Given the description of an element on the screen output the (x, y) to click on. 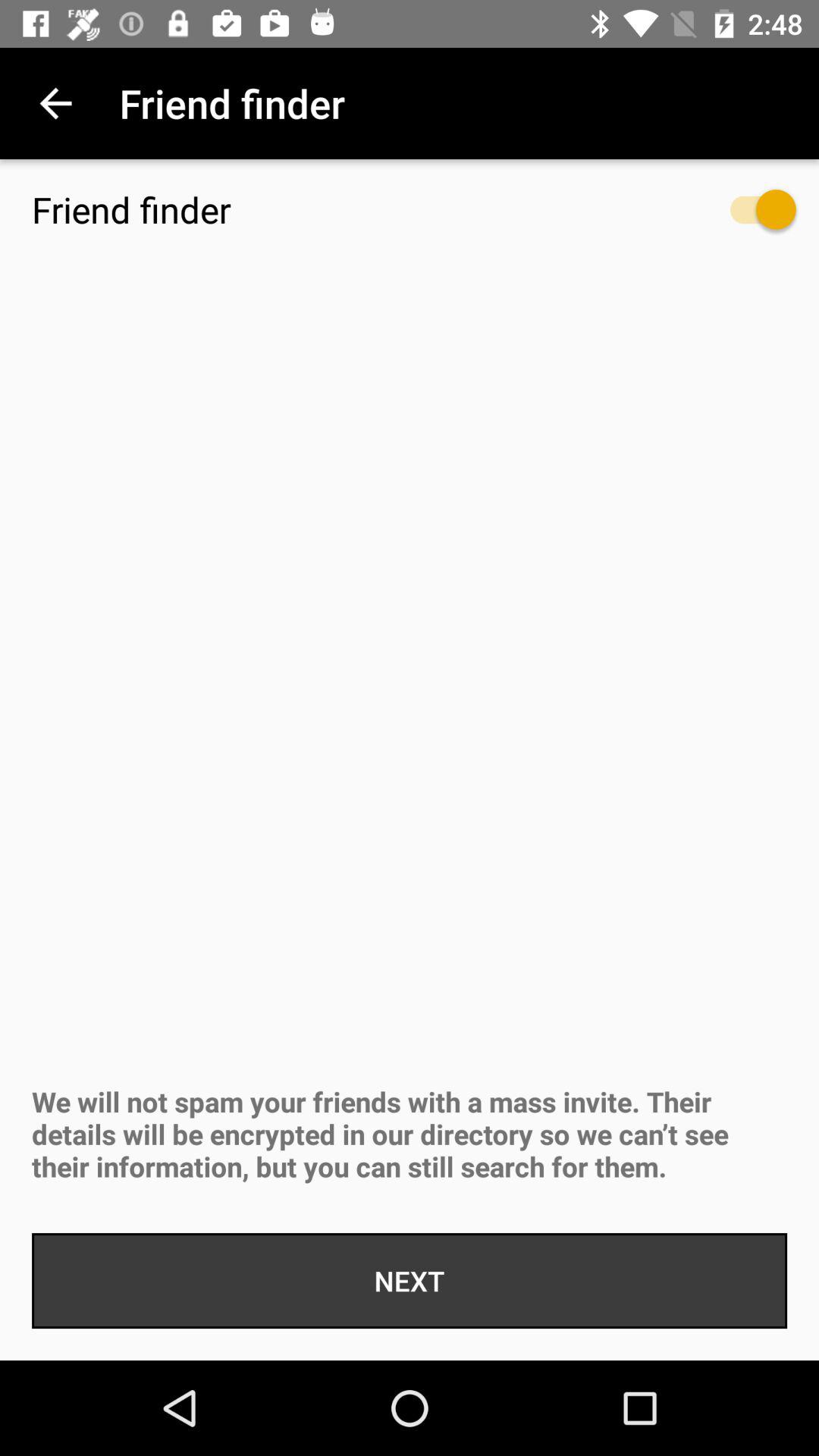
press the item above friend finder item (55, 103)
